Given the description of an element on the screen output the (x, y) to click on. 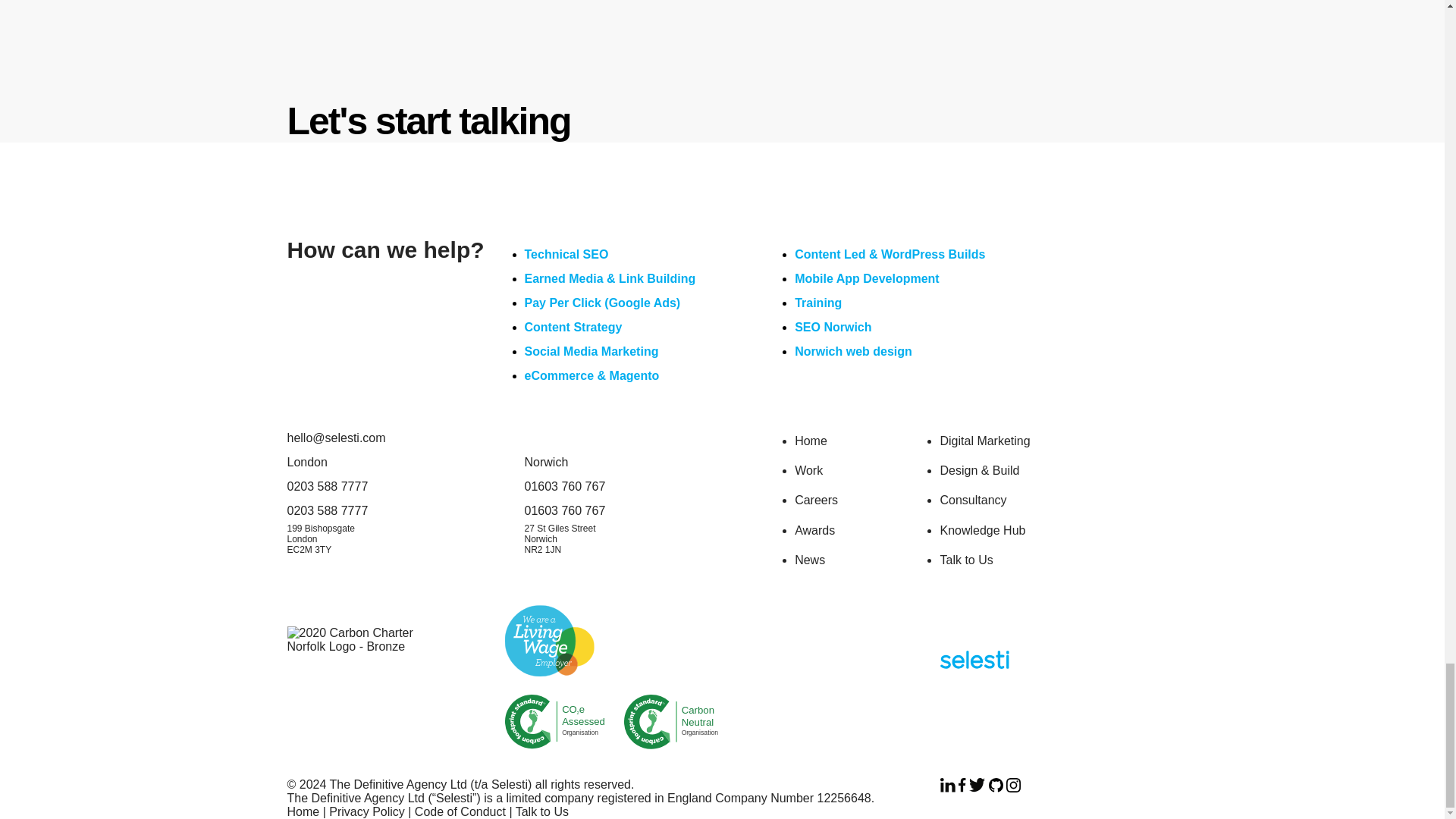
Content Strategy (573, 327)
Work (808, 470)
Training (817, 302)
Social Media Marketing (591, 350)
Knowledge Hub (982, 530)
Follow us on Twitter  (977, 786)
Consultancy (972, 499)
SEO Norwich (832, 327)
0203 588 7777 (554, 721)
